Given the description of an element on the screen output the (x, y) to click on. 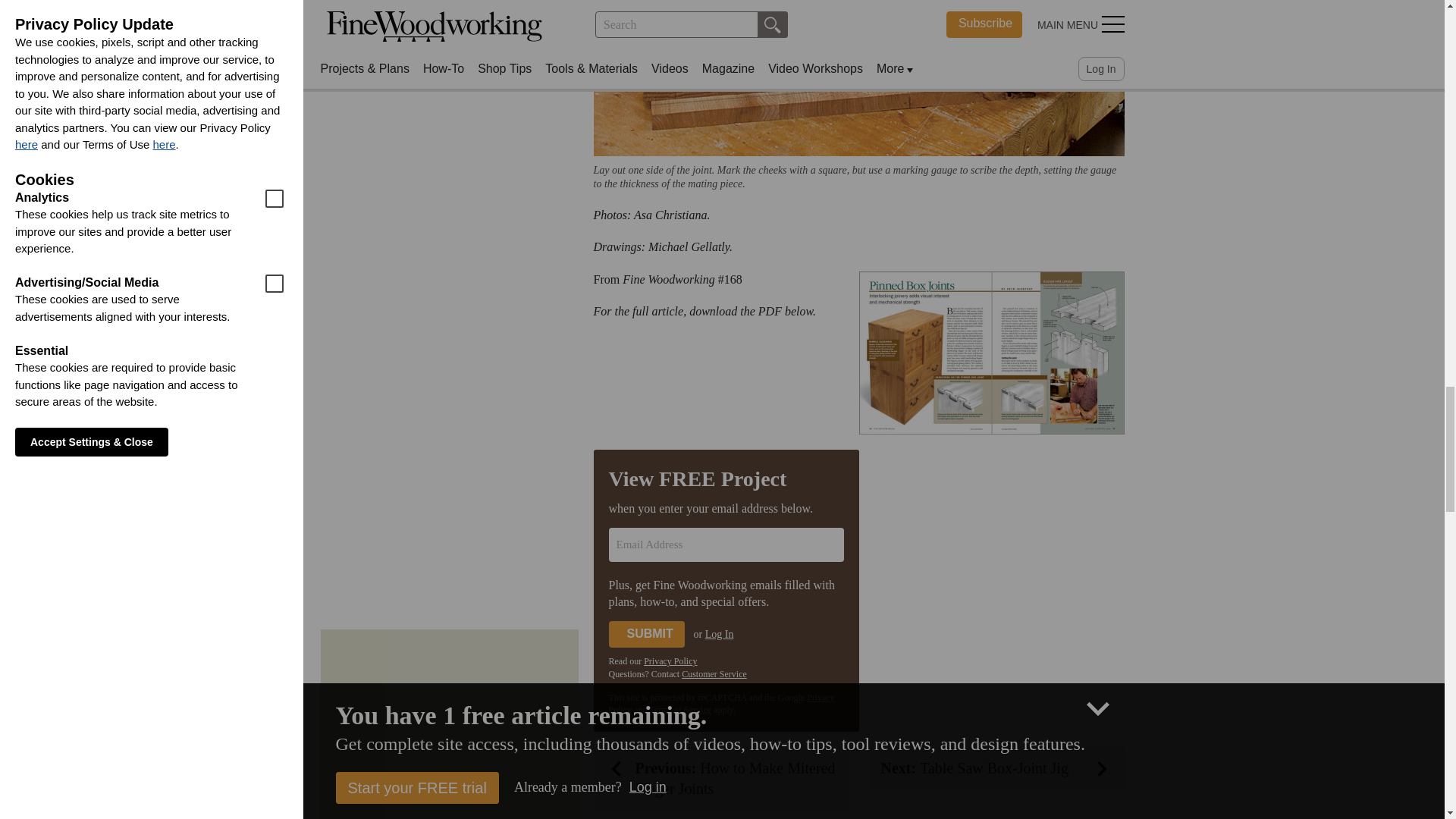
3rd party ad content (448, 731)
